Given the description of an element on the screen output the (x, y) to click on. 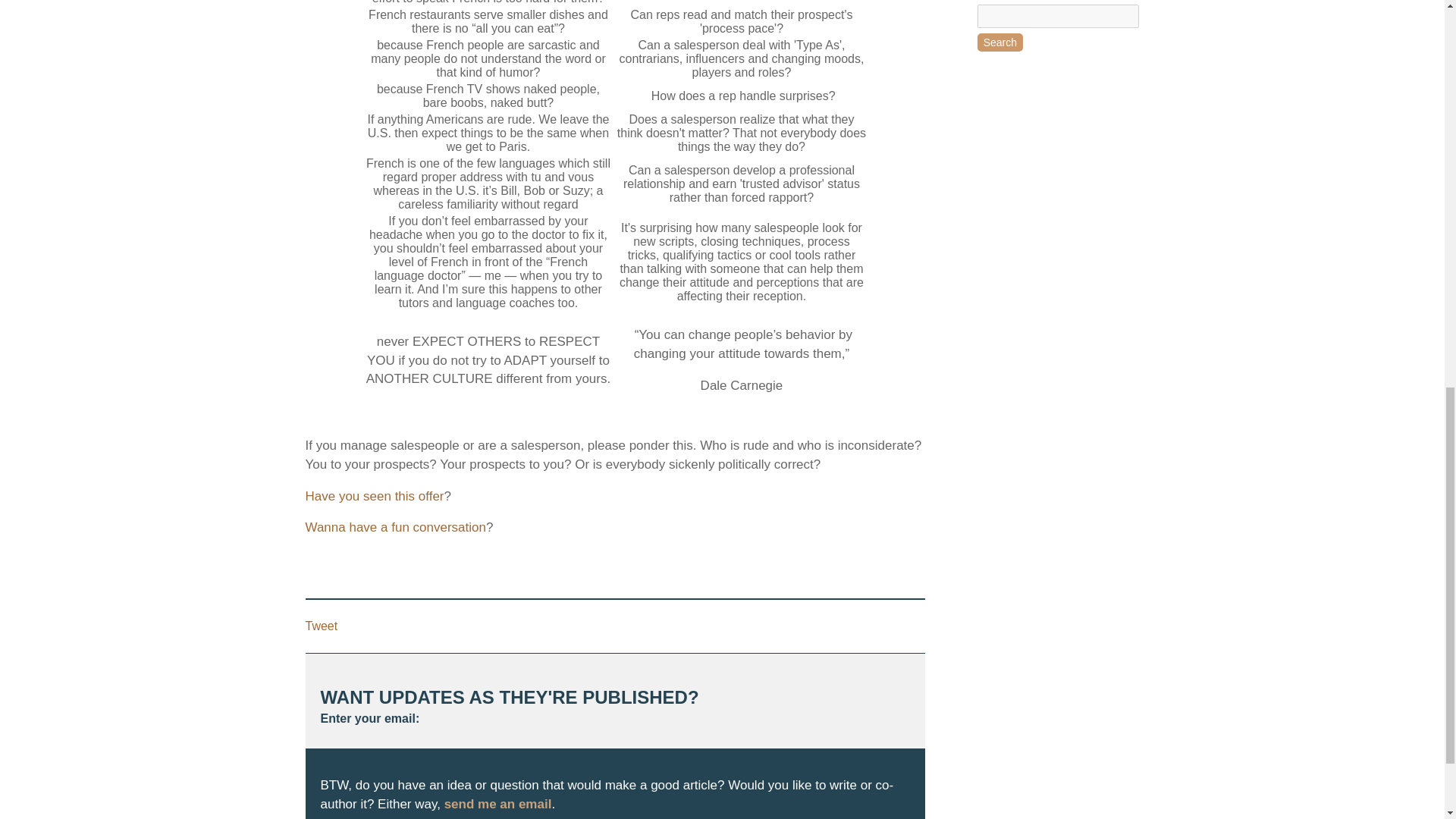
Wanna have a fun conversation (394, 527)
send me an email (497, 803)
Have you seen this offer (374, 495)
Tweet (320, 625)
Search (999, 42)
